Given the description of an element on the screen output the (x, y) to click on. 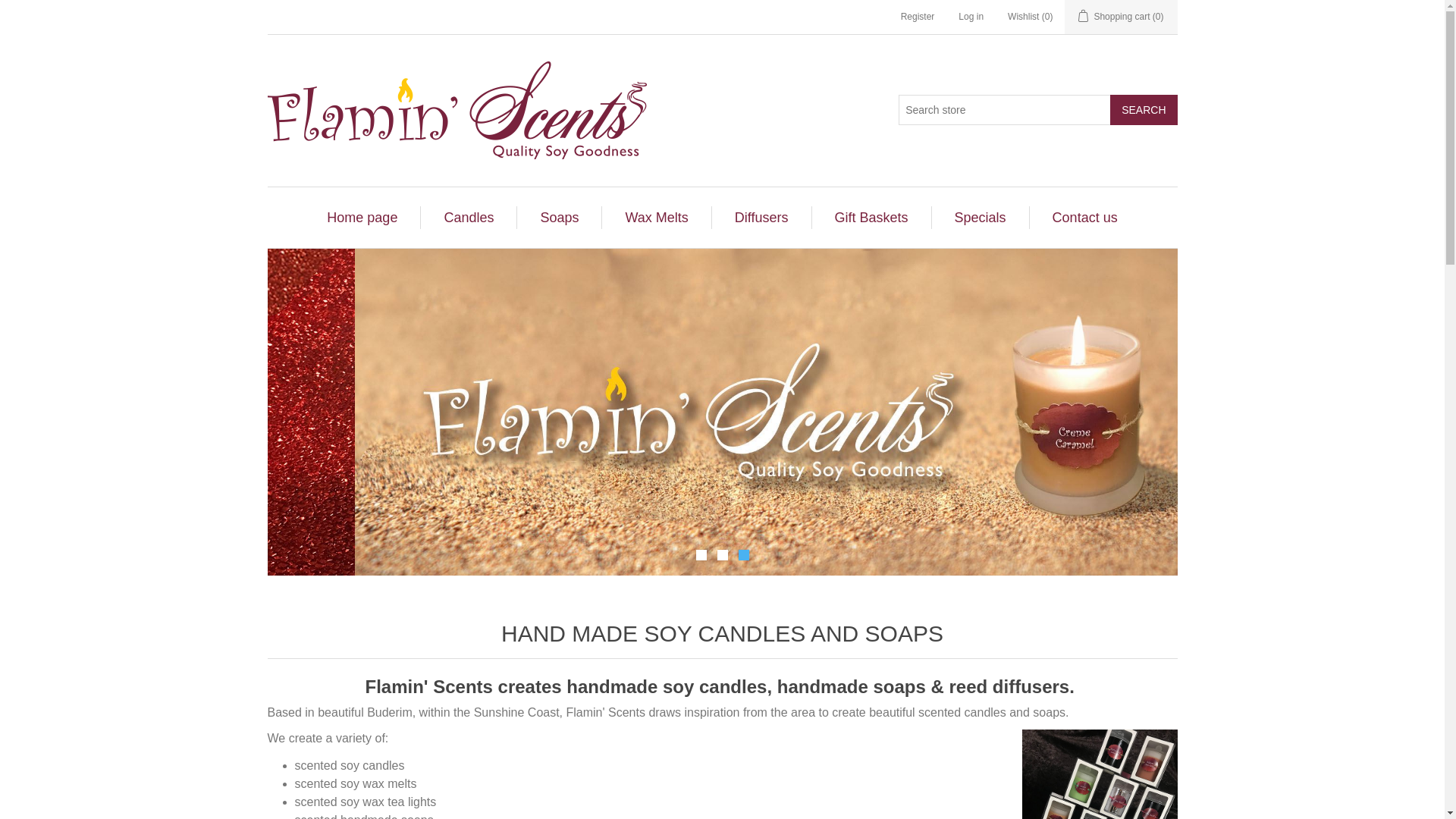
2 Element type: text (722, 554)
1 Element type: text (701, 554)
3 Element type: text (743, 554)
Contact us Element type: text (1084, 217)
Search Element type: text (1143, 109)
Specials Element type: text (980, 217)
Register Element type: text (917, 17)
Diffusers Element type: text (761, 217)
Wishlist (0) Element type: text (1029, 17)
Shopping cart (0) Element type: text (1120, 17)
Gift Baskets Element type: text (871, 217)
Candles Element type: text (468, 217)
Wax Melts Element type: text (656, 217)
Home page Element type: text (361, 217)
Log in Element type: text (970, 17)
Soaps Element type: text (559, 217)
